Given the description of an element on the screen output the (x, y) to click on. 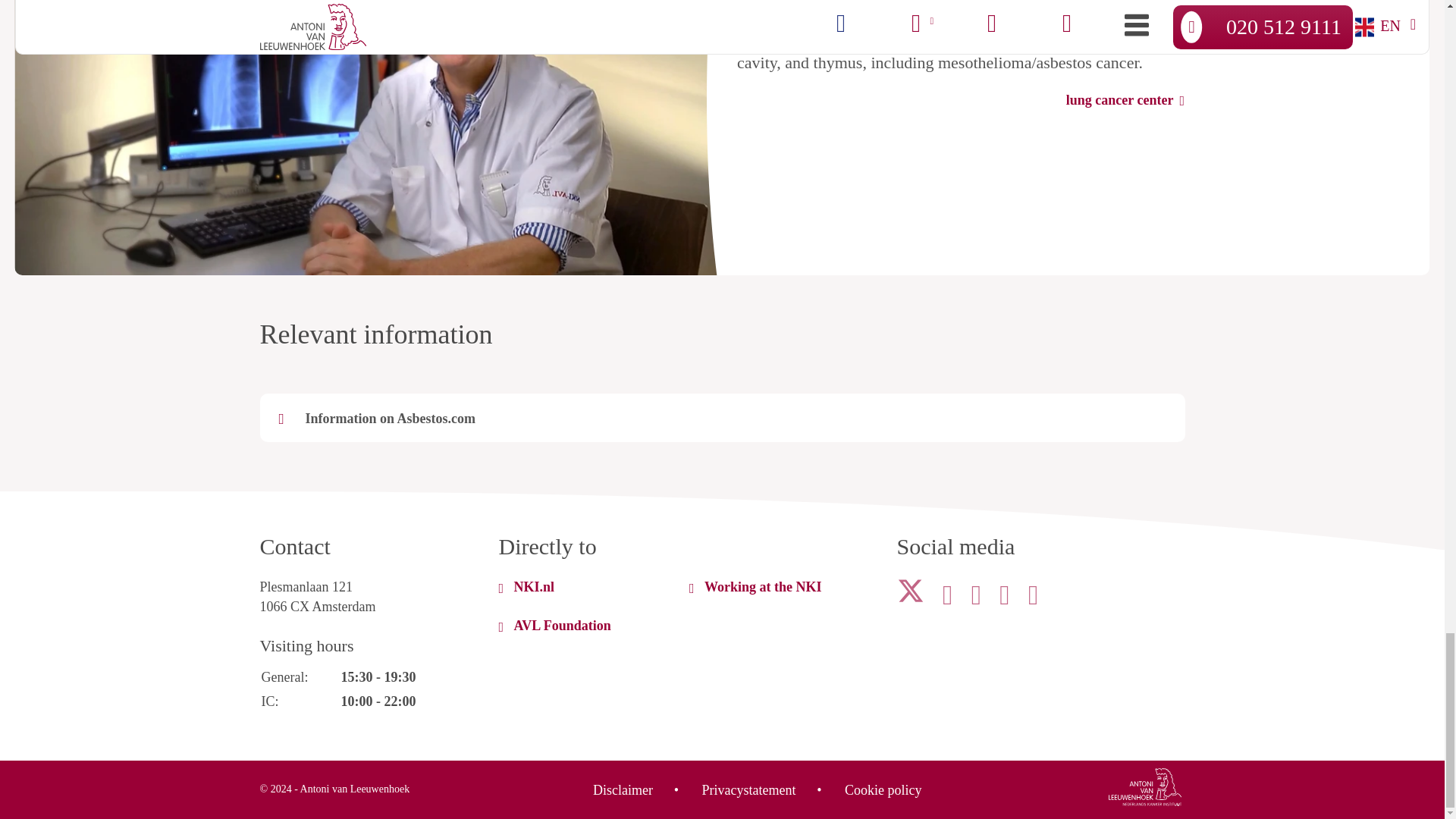
Ga naar de homepage (1145, 789)
